Given the description of an element on the screen output the (x, y) to click on. 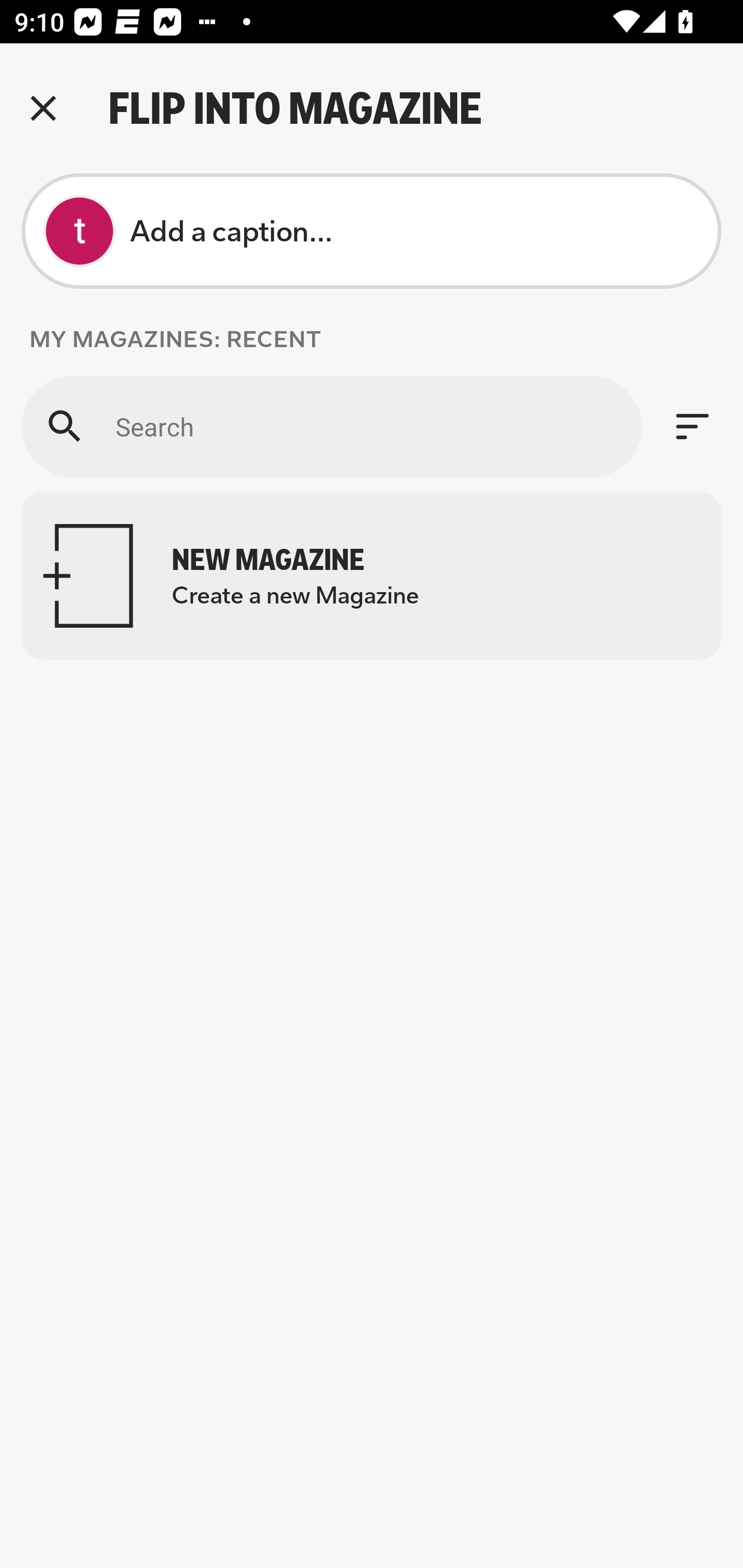
test appium Add a caption… (371, 231)
Search (331, 426)
NEW MAGAZINE Create a new Magazine (371, 575)
